Given the description of an element on the screen output the (x, y) to click on. 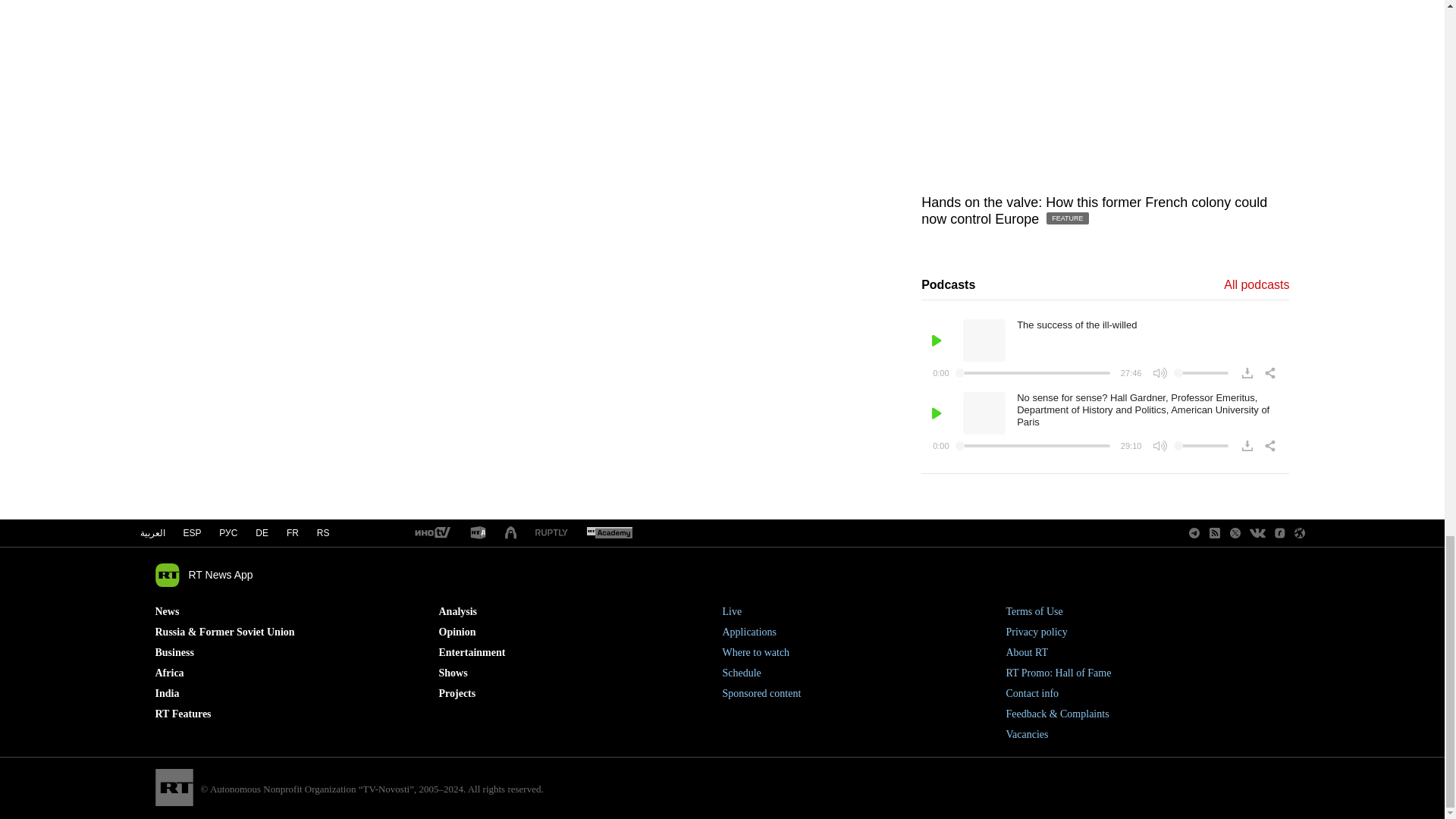
RT  (608, 533)
RT  (551, 533)
RT  (431, 533)
RT  (478, 533)
